Given the description of an element on the screen output the (x, y) to click on. 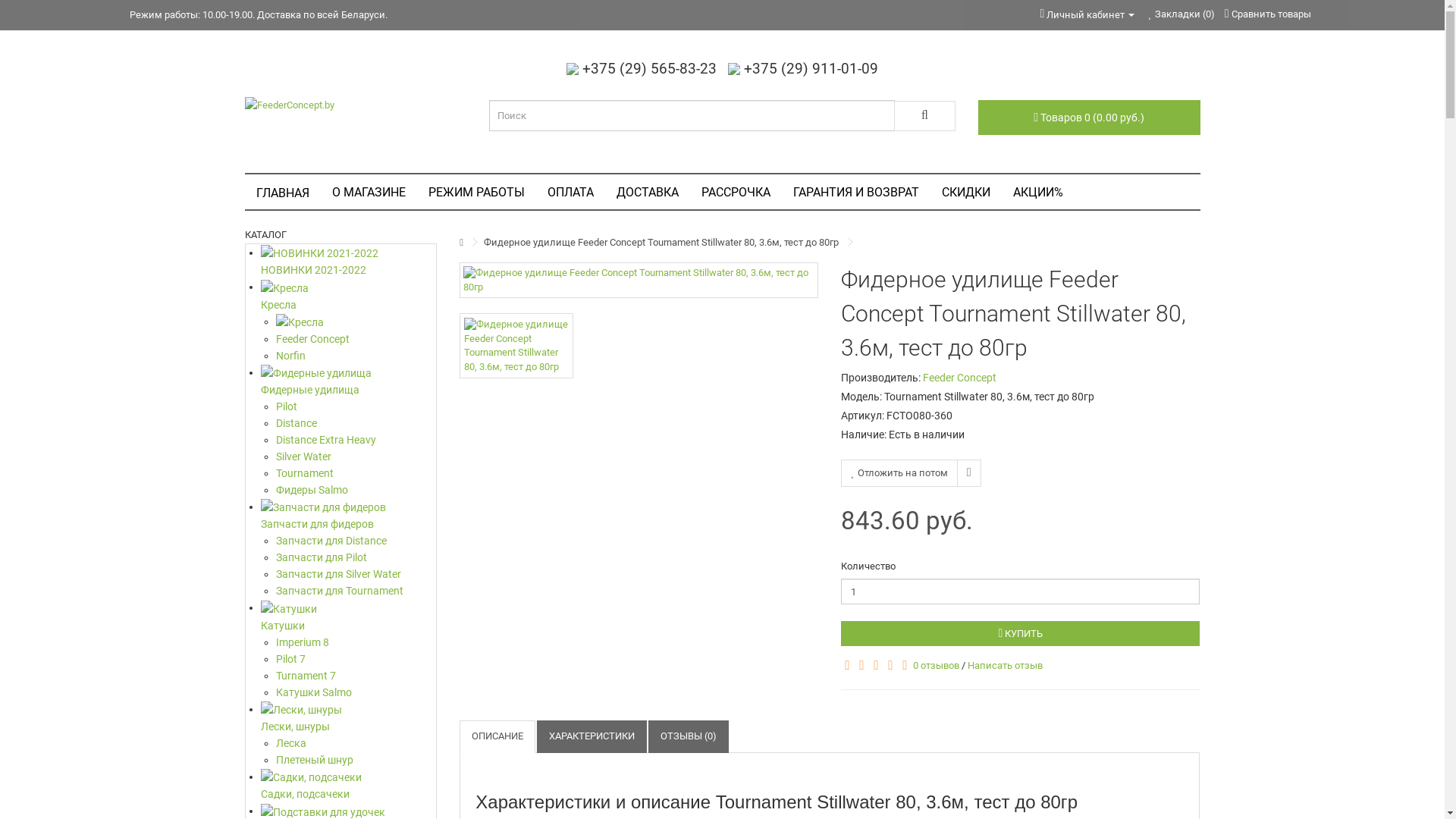
Silver Water Element type: text (356, 456)
Norfin Element type: text (356, 355)
FeederConcept.by Element type: hover (355, 105)
Distance Element type: text (356, 422)
Distance Extra Heavy Element type: text (356, 439)
Imperium 8 Element type: text (356, 641)
Feeder Concept Element type: text (356, 338)
Tournament Element type: text (356, 472)
Pilot 7 Element type: text (356, 658)
Turnament 7 Element type: text (356, 675)
Feeder Concept Element type: text (959, 377)
Pilot Element type: text (356, 406)
